Given the description of an element on the screen output the (x, y) to click on. 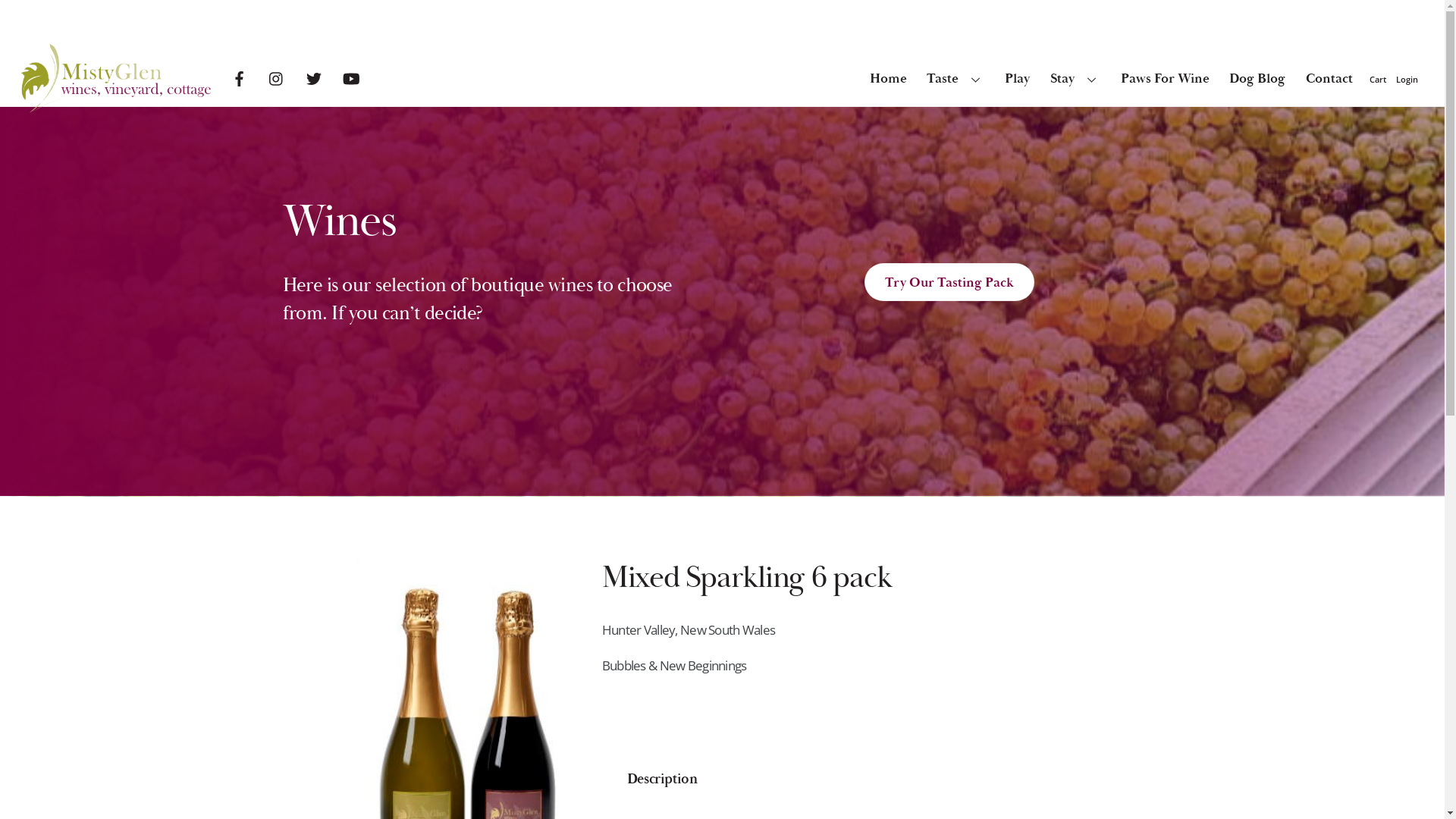
Paws For Wine Element type: text (1164, 78)
Dog Blog Element type: text (1256, 78)
Login Element type: text (1407, 78)
Misty Glen Element type: hover (115, 106)
Cart Element type: text (1378, 78)
MistyGlen-web-logo Element type: hover (115, 77)
Try Our Tasting Pack Element type: text (949, 281)
Stay Element type: text (1074, 78)
Taste Element type: text (956, 78)
Home Element type: text (888, 78)
Contact Element type: text (1329, 78)
Play Element type: text (1017, 78)
